Given the description of an element on the screen output the (x, y) to click on. 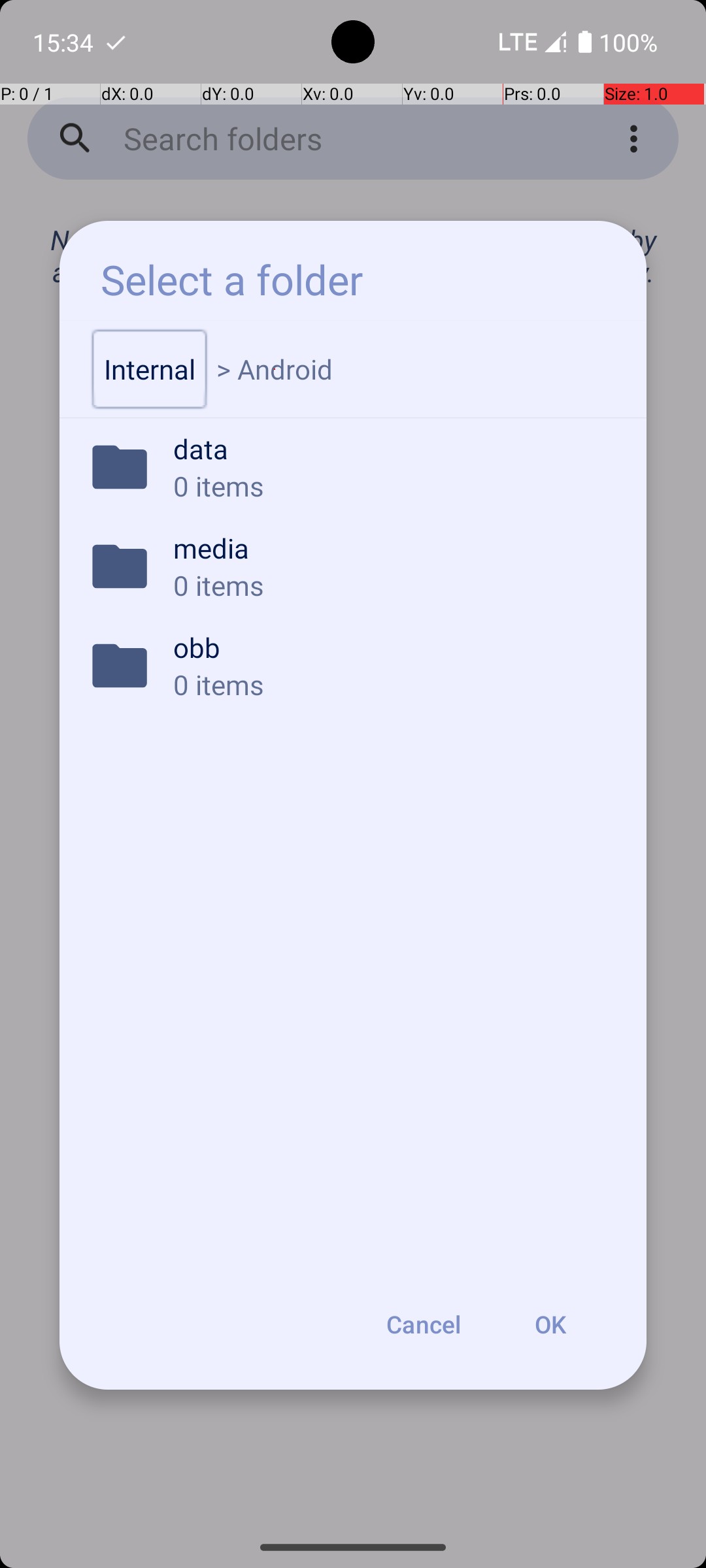
Select a folder Element type: android.widget.TextView (231, 279)
Internal Element type: android.widget.TextView (149, 368)
> Android Element type: android.widget.TextView (274, 368)
data Element type: android.widget.TextView (392, 448)
0 items Element type: android.widget.TextView (392, 485)
media Element type: android.widget.TextView (392, 547)
obb Element type: android.widget.TextView (392, 646)
